Given the description of an element on the screen output the (x, y) to click on. 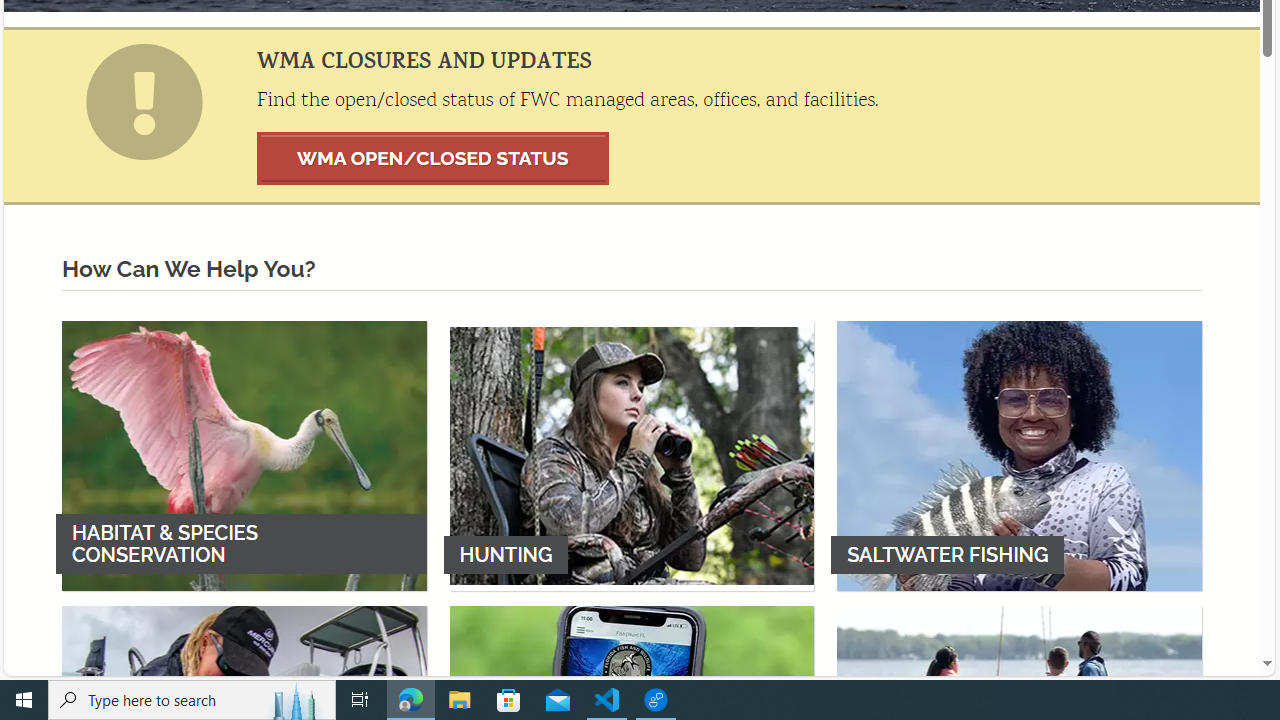
SALTWATER FISHING (1019, 455)
WMA OPEN/CLOSED STATUS (433, 158)
HUNTING (632, 455)
HABITAT & SPECIES CONSERVATION (244, 455)
